Given the description of an element on the screen output the (x, y) to click on. 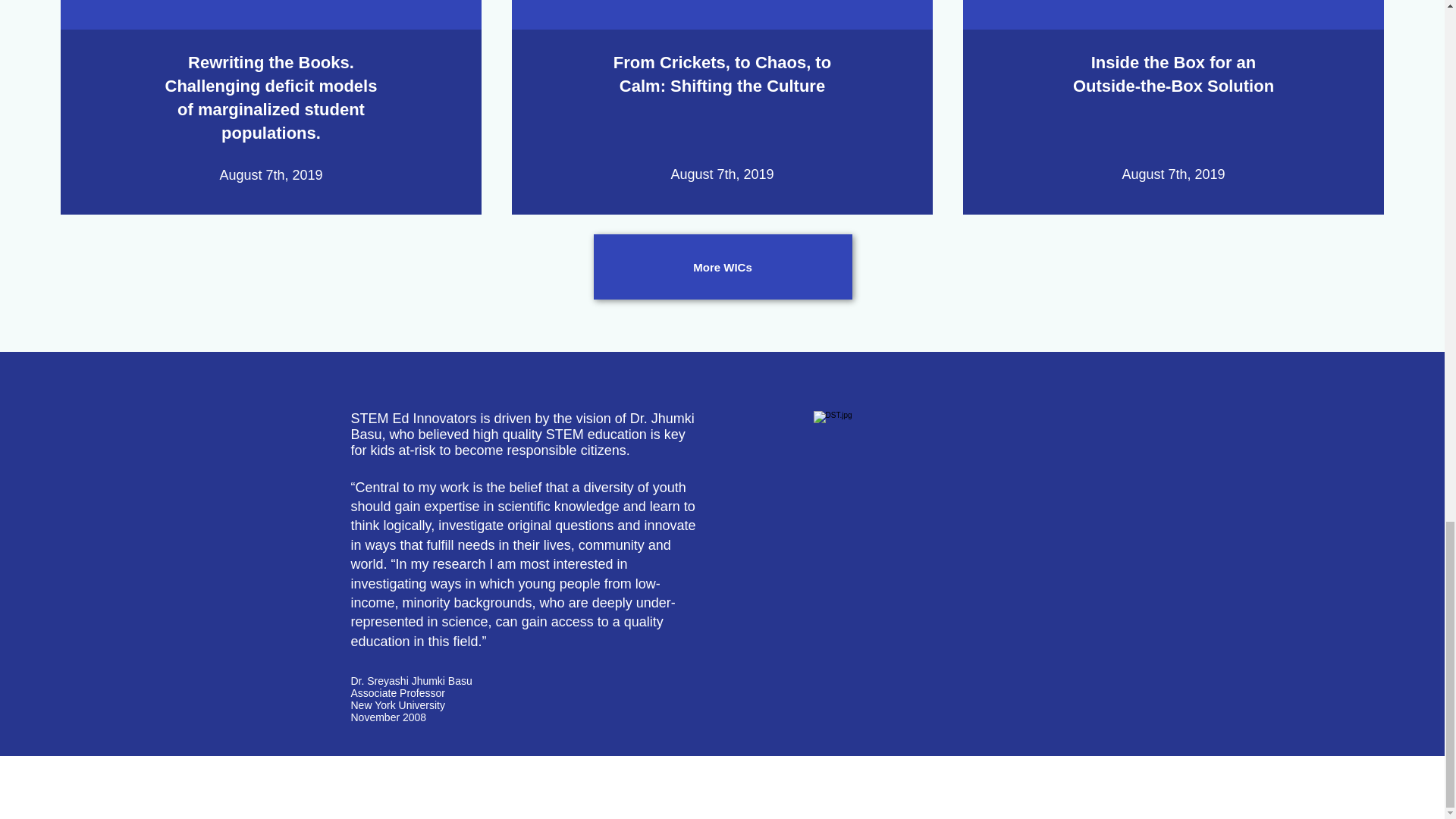
From Crickets, to Chaos, to Calm: Shifting the Culture (721, 74)
Inside the Box for an Outside-the-Box Solution (1173, 74)
More WICs (721, 266)
